Given the description of an element on the screen output the (x, y) to click on. 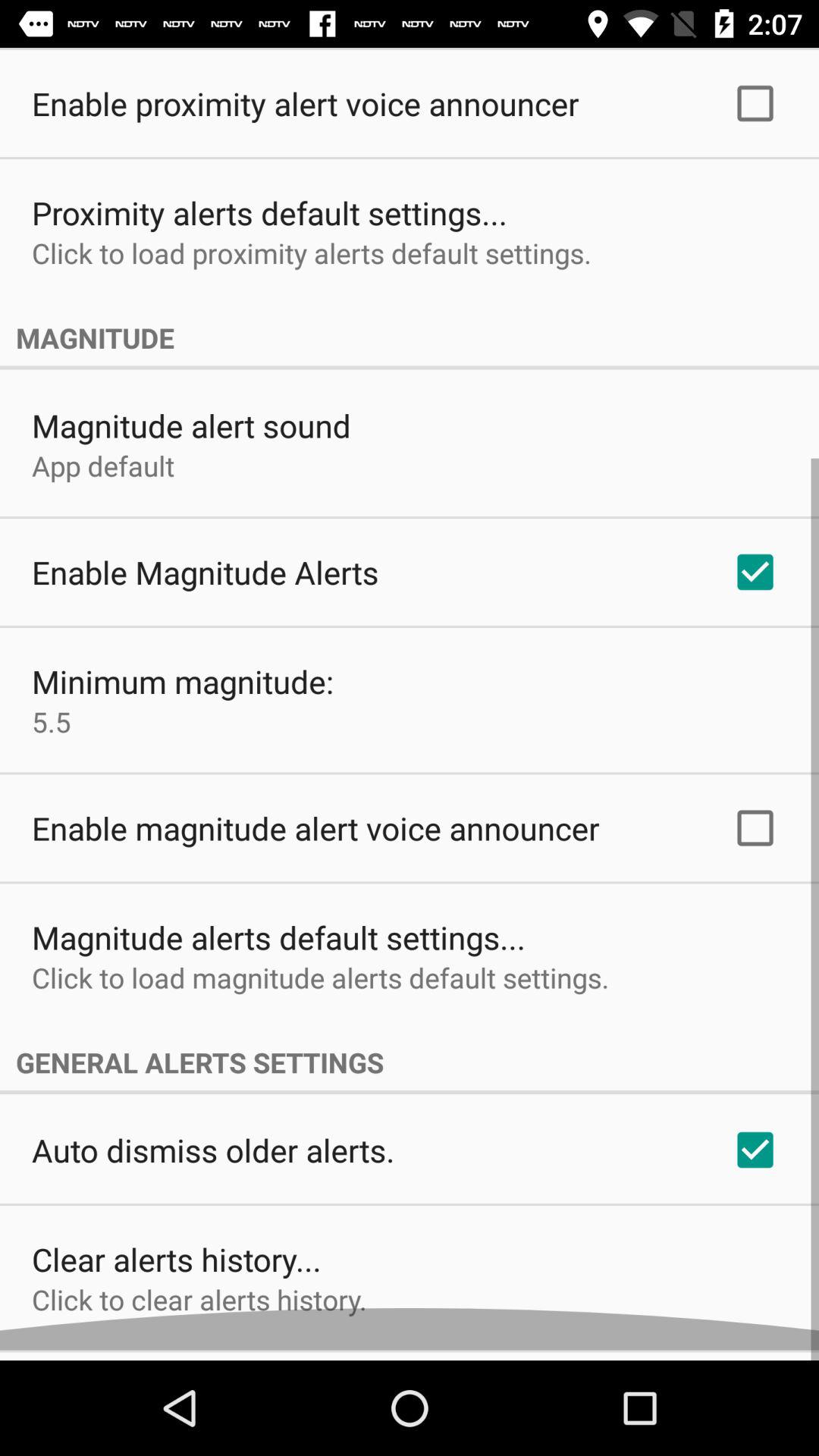
choose app below the minimum magnitude: item (51, 731)
